Given the description of an element on the screen output the (x, y) to click on. 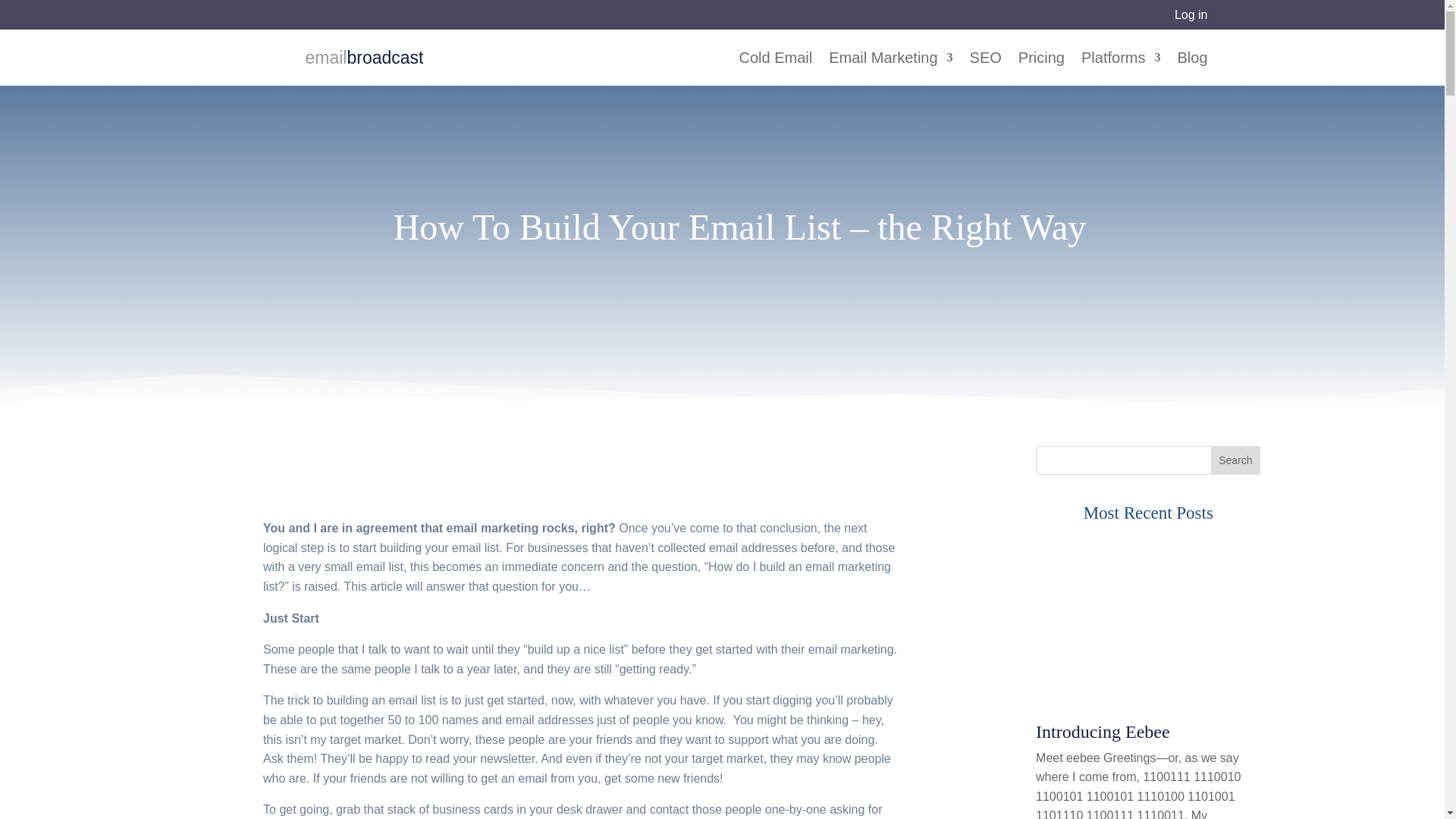
Search (1235, 460)
emailbroadcast-transparent-2 (269, 57)
Search (1235, 460)
Platforms (1120, 68)
Blog (1191, 68)
Cold Email (775, 68)
Log in (1191, 14)
Pricing (1040, 68)
Email Marketing (890, 68)
Introducing Eebee (1102, 731)
